Given the description of an element on the screen output the (x, y) to click on. 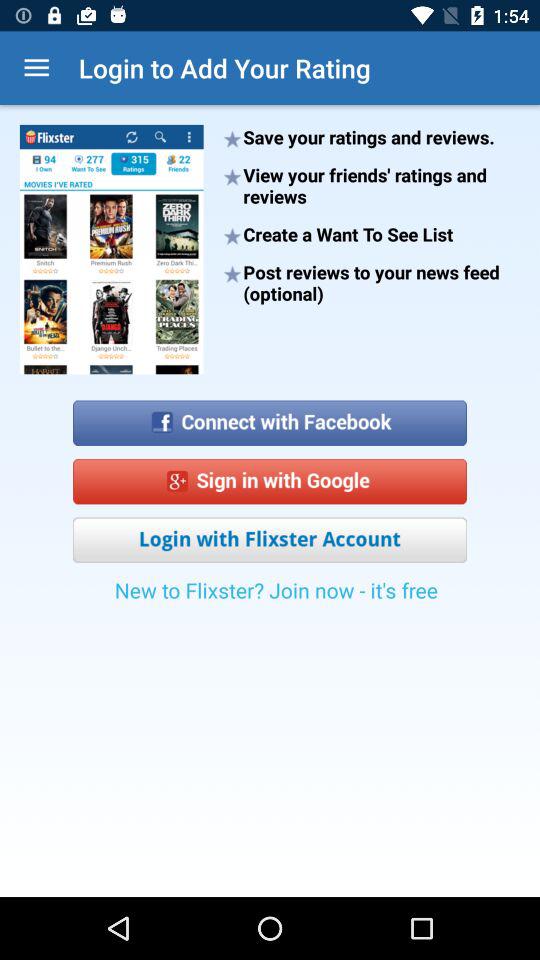
login with flixster (270, 539)
